Given the description of an element on the screen output the (x, y) to click on. 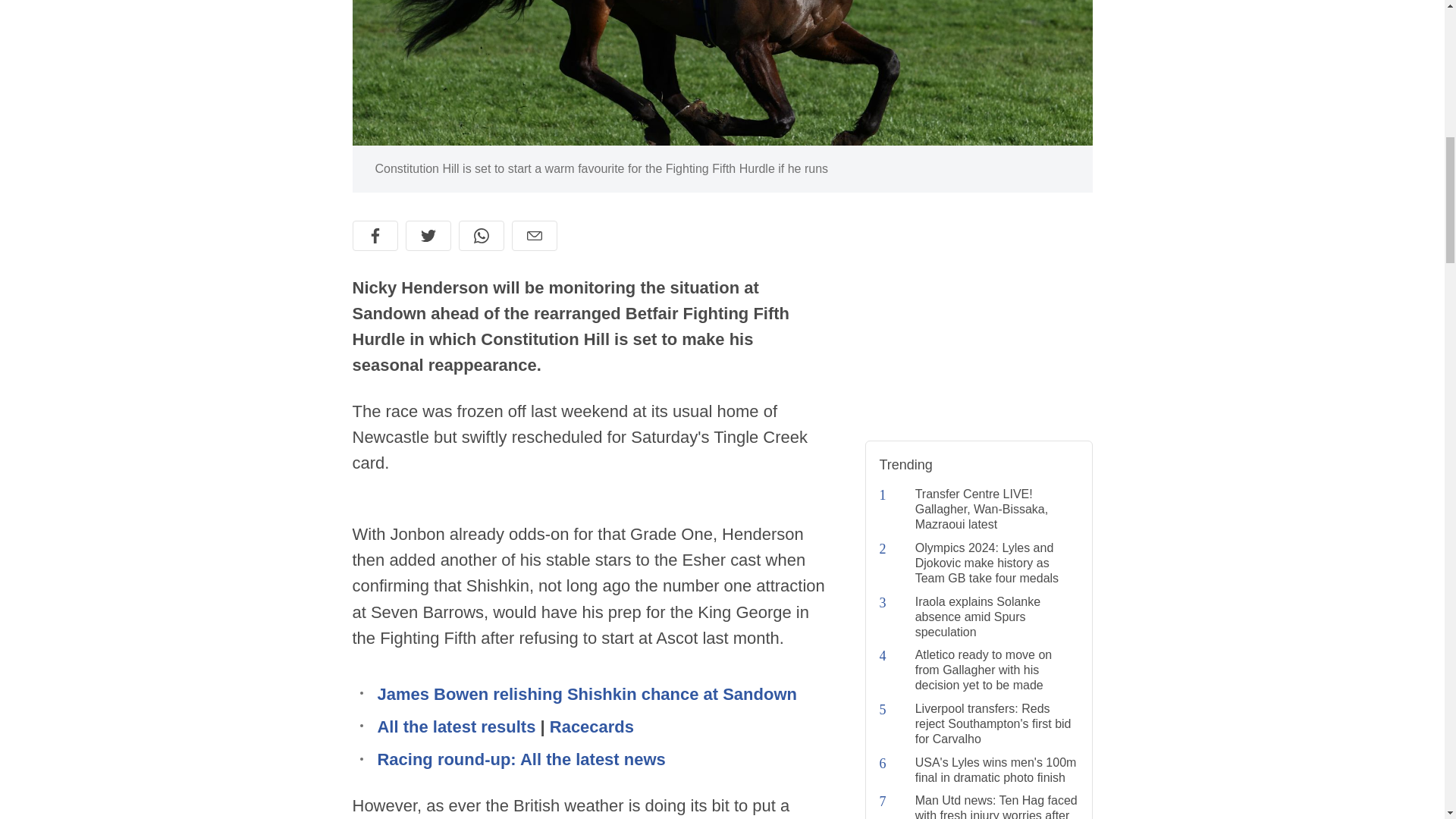
Share on WhatsApp (480, 235)
Share on Facebook (374, 235)
Share by email (533, 235)
Share on Twitter (426, 235)
